Given the description of an element on the screen output the (x, y) to click on. 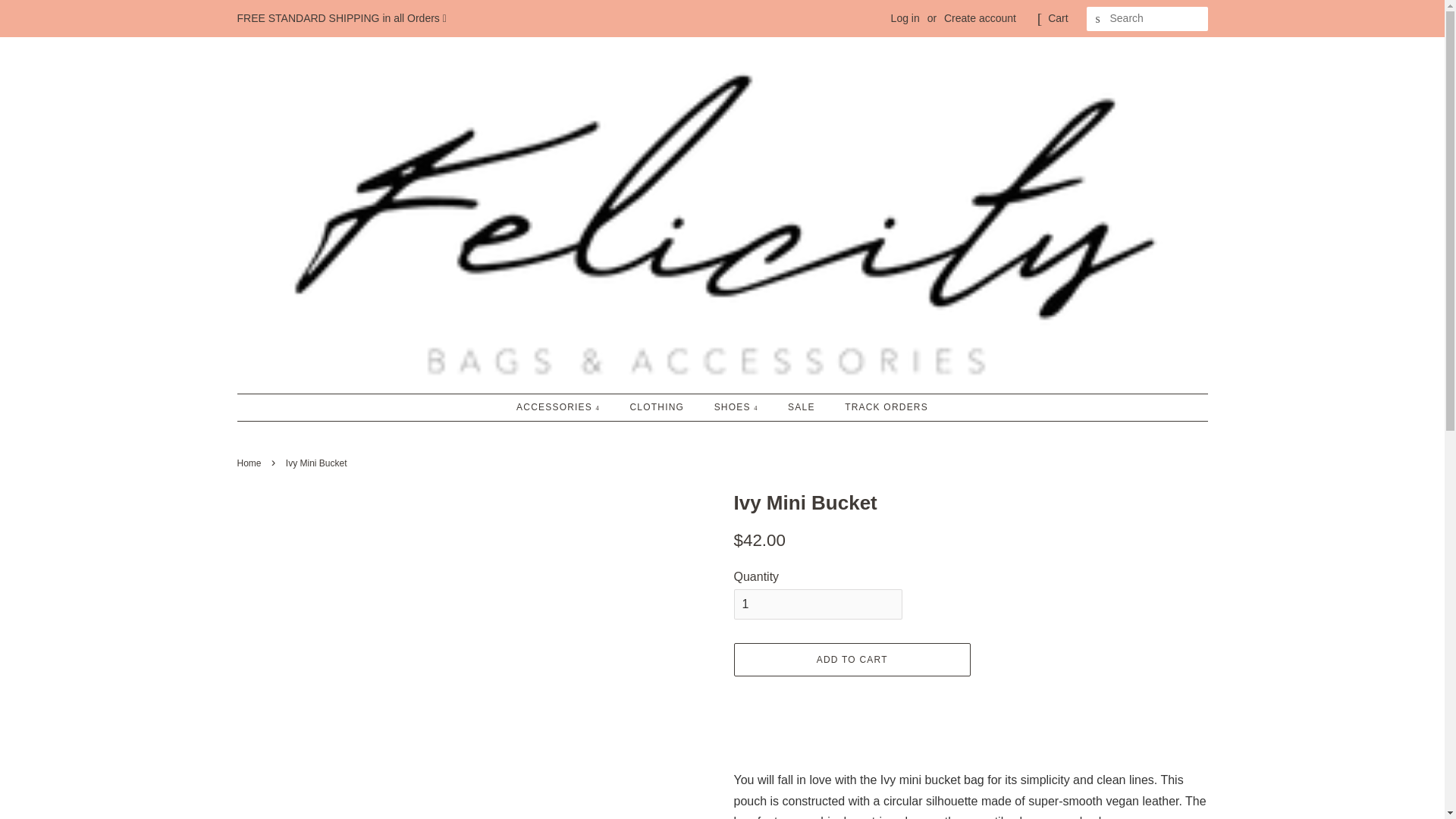
Back to the frontpage (249, 462)
Home (249, 462)
SEARCH (1097, 18)
TRACK ORDERS (880, 406)
SALE (802, 406)
Log in (905, 18)
Create account (979, 18)
1 (817, 603)
SHOES (738, 406)
ACCESSORIES (565, 406)
Cart (1057, 18)
CLOTHING (657, 406)
